Given the description of an element on the screen output the (x, y) to click on. 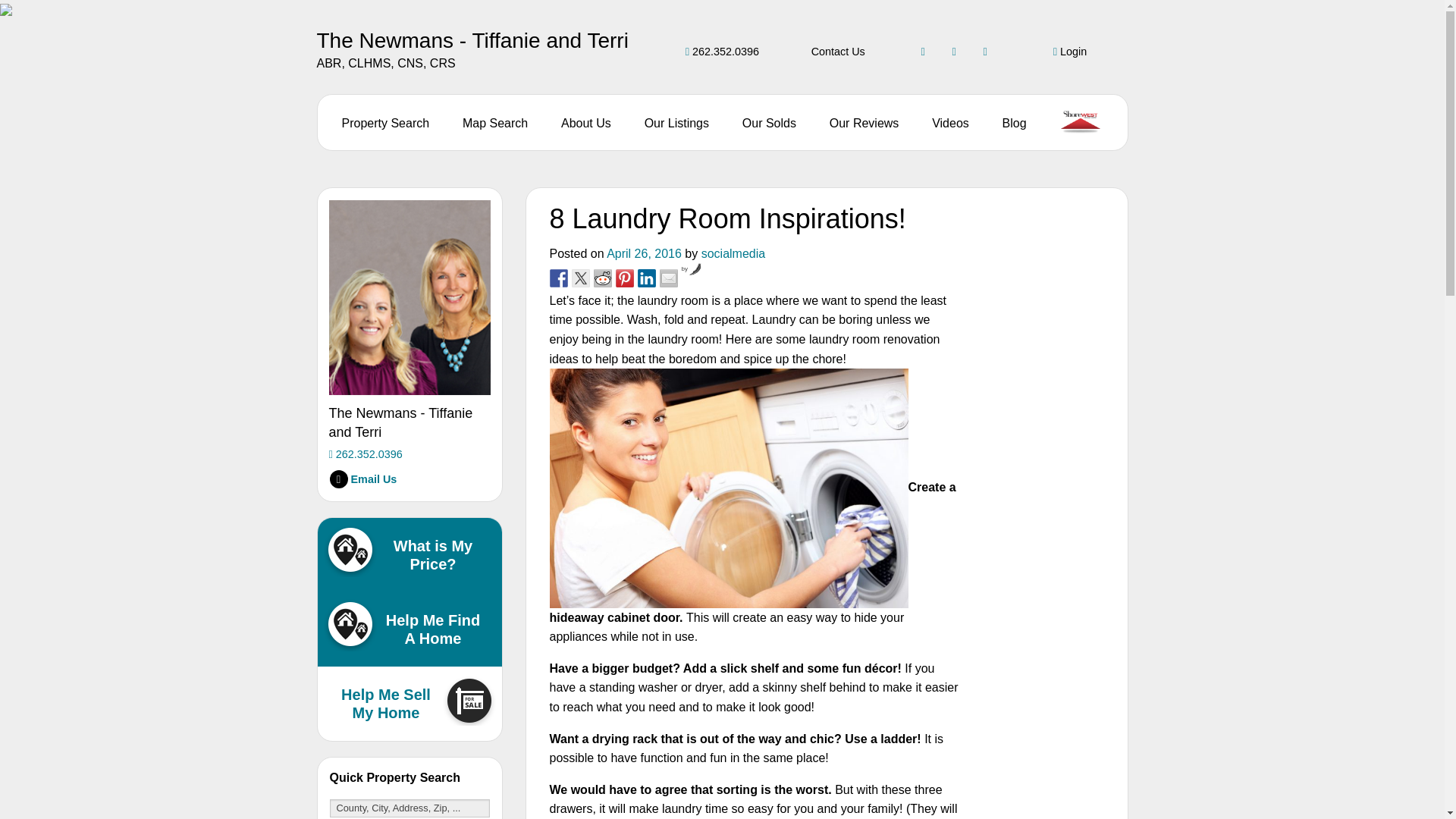
Share on Reddit (601, 278)
socialmedia (733, 253)
Our Listings (677, 122)
Login (1069, 51)
Our Reviews (864, 122)
Share on Linkedin (646, 278)
Contact Us (837, 51)
April 26, 2016 (644, 253)
262.352.0396 (721, 51)
9:20 am (644, 253)
Share on Twitter (580, 278)
Videos (950, 122)
Share on Facebook (557, 278)
Our Solds (769, 122)
by (691, 268)
